Given the description of an element on the screen output the (x, y) to click on. 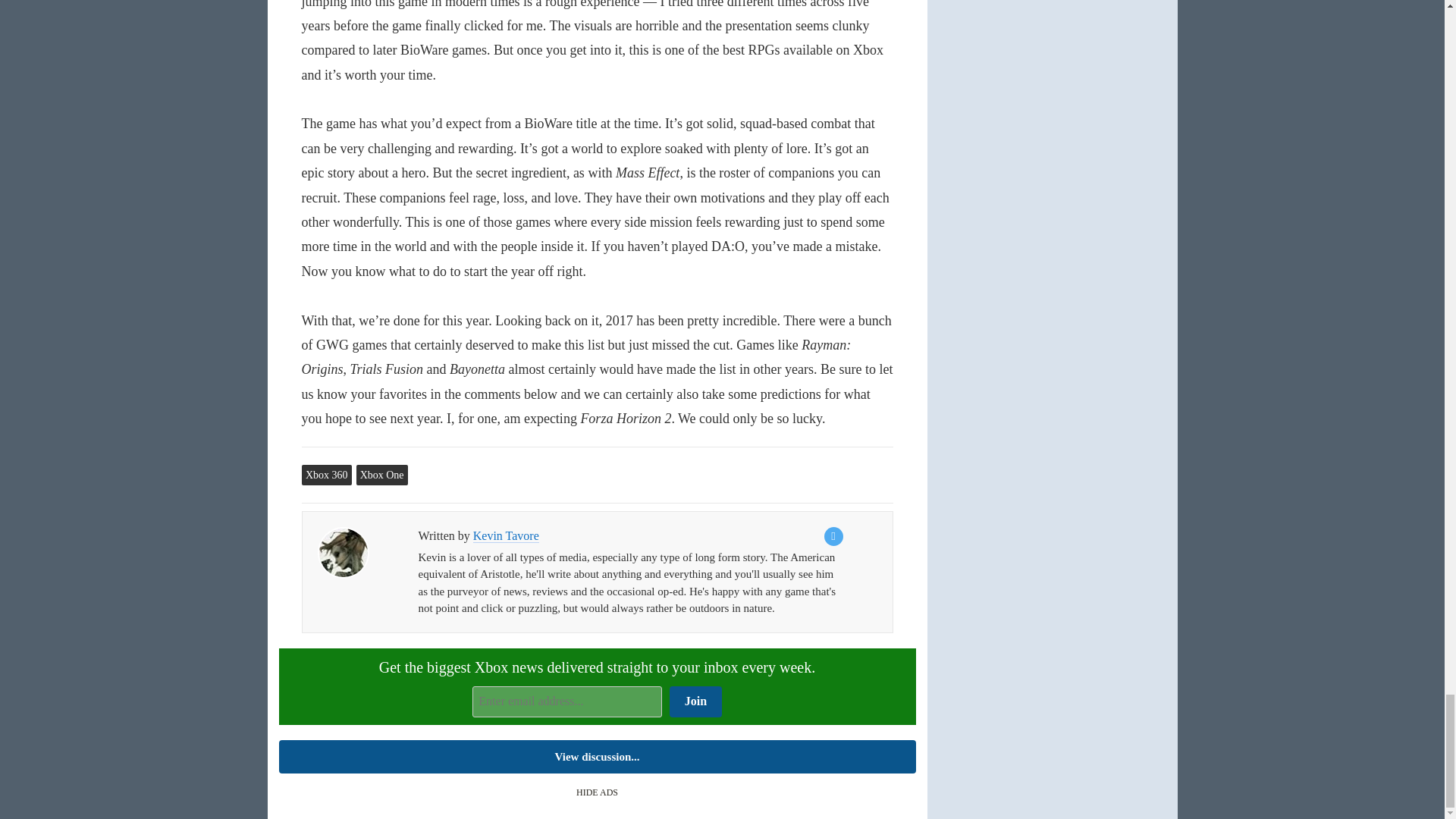
Twitter (833, 536)
Kevin Tavore (342, 552)
